Given the description of an element on the screen output the (x, y) to click on. 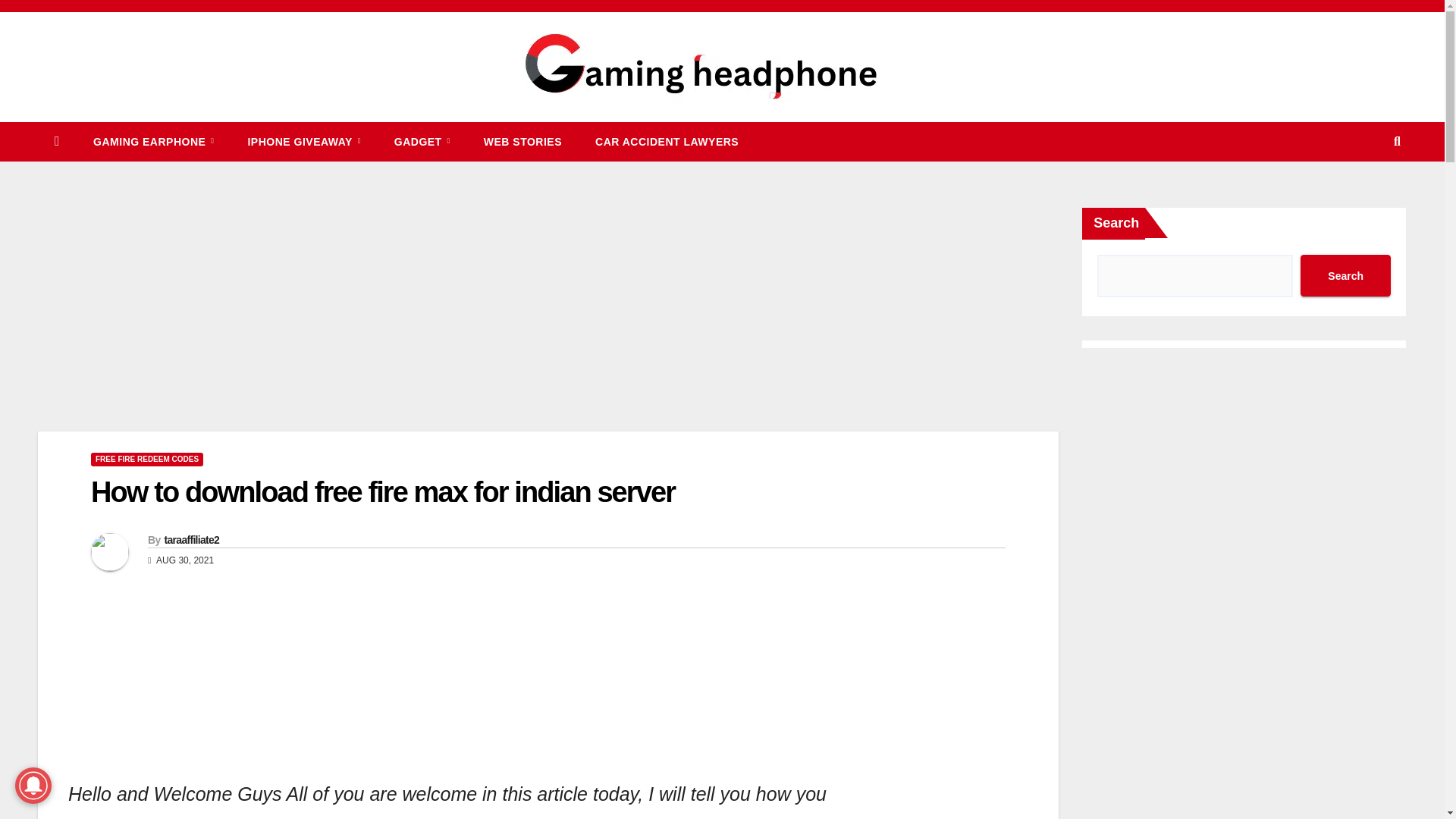
CAR ACCIDENT LAWYERS (666, 141)
GADGET (422, 141)
Web stories (522, 141)
iPhone giveaway (303, 141)
FREE FIRE REDEEM CODES (146, 459)
car accident lawyers (666, 141)
gaming earphone (153, 141)
How to download free fire max for indian server (382, 491)
gadget (422, 141)
WEB STORIES (522, 141)
GAMING EARPHONE (153, 141)
taraaffiliate2 (191, 539)
